Given the description of an element on the screen output the (x, y) to click on. 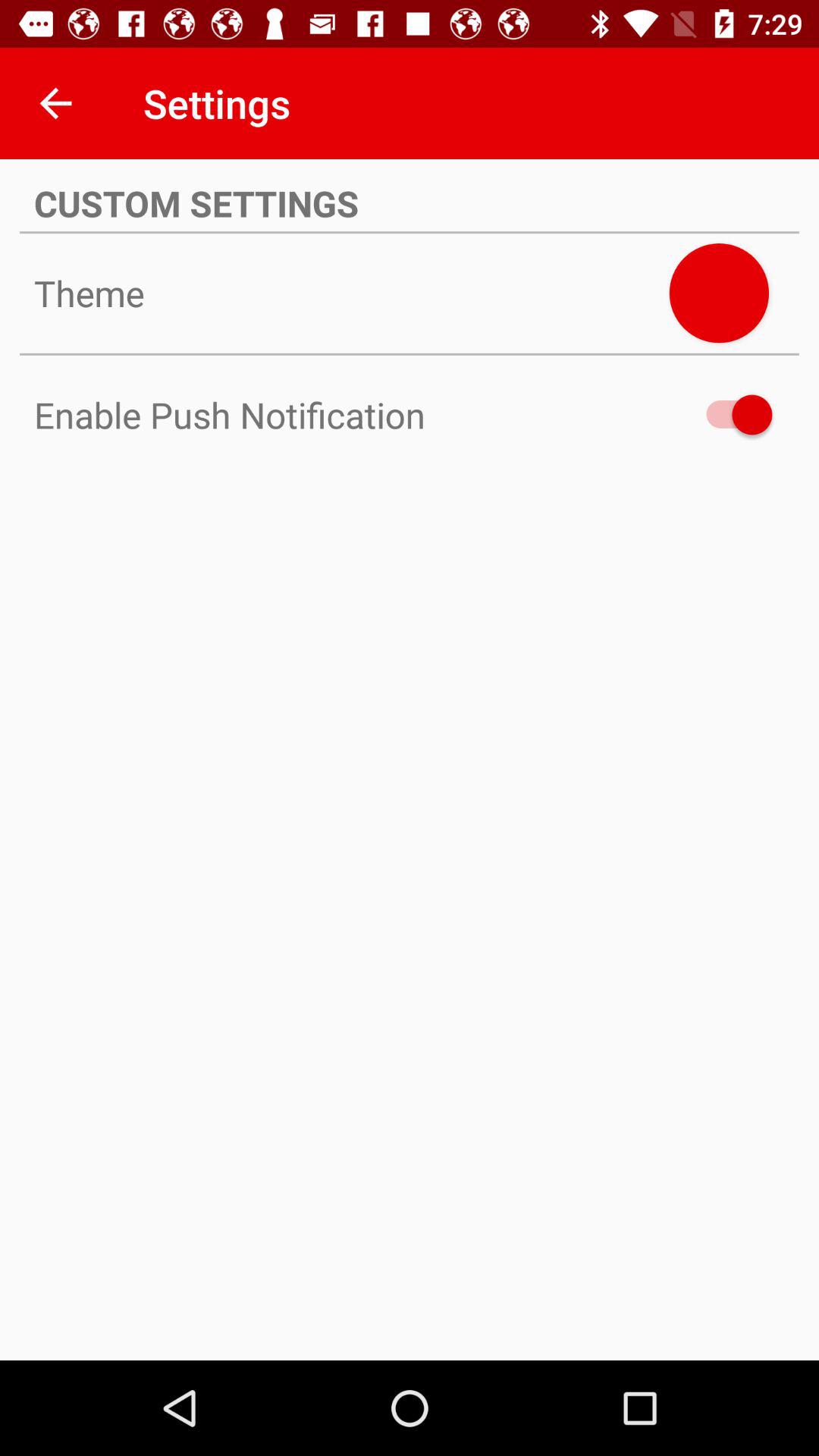
turn on the icon next to the theme item (718, 292)
